Given the description of an element on the screen output the (x, y) to click on. 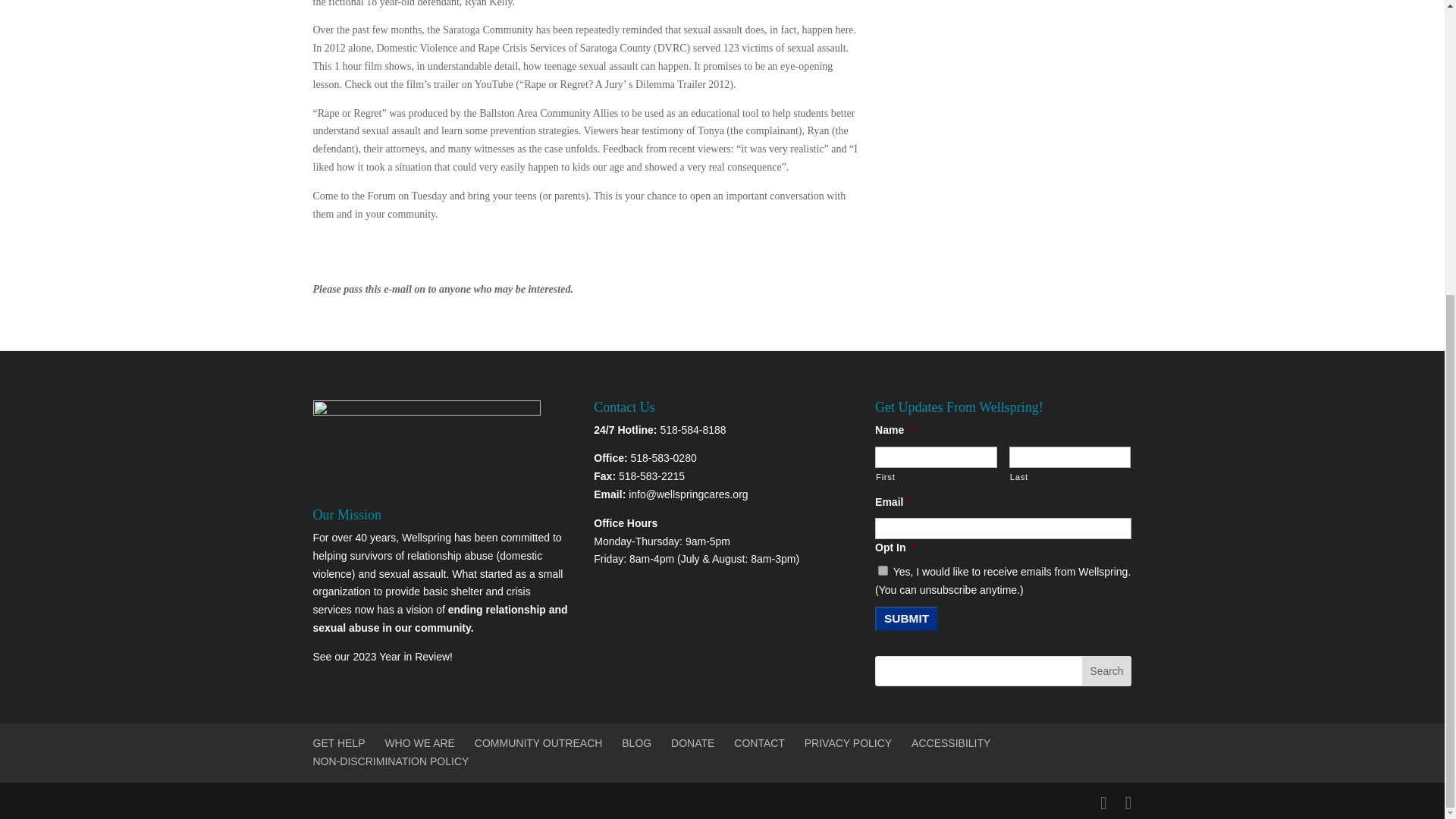
518-584-8188 (692, 429)
See our 2023 Year in Review! (382, 656)
Submit (906, 618)
WHO WE ARE (419, 743)
COMMUNITY OUTREACH (538, 743)
518-583-0280 (663, 458)
GET HELP (339, 743)
BLOG (635, 743)
1 (882, 570)
Search (1106, 671)
